Given the description of an element on the screen output the (x, y) to click on. 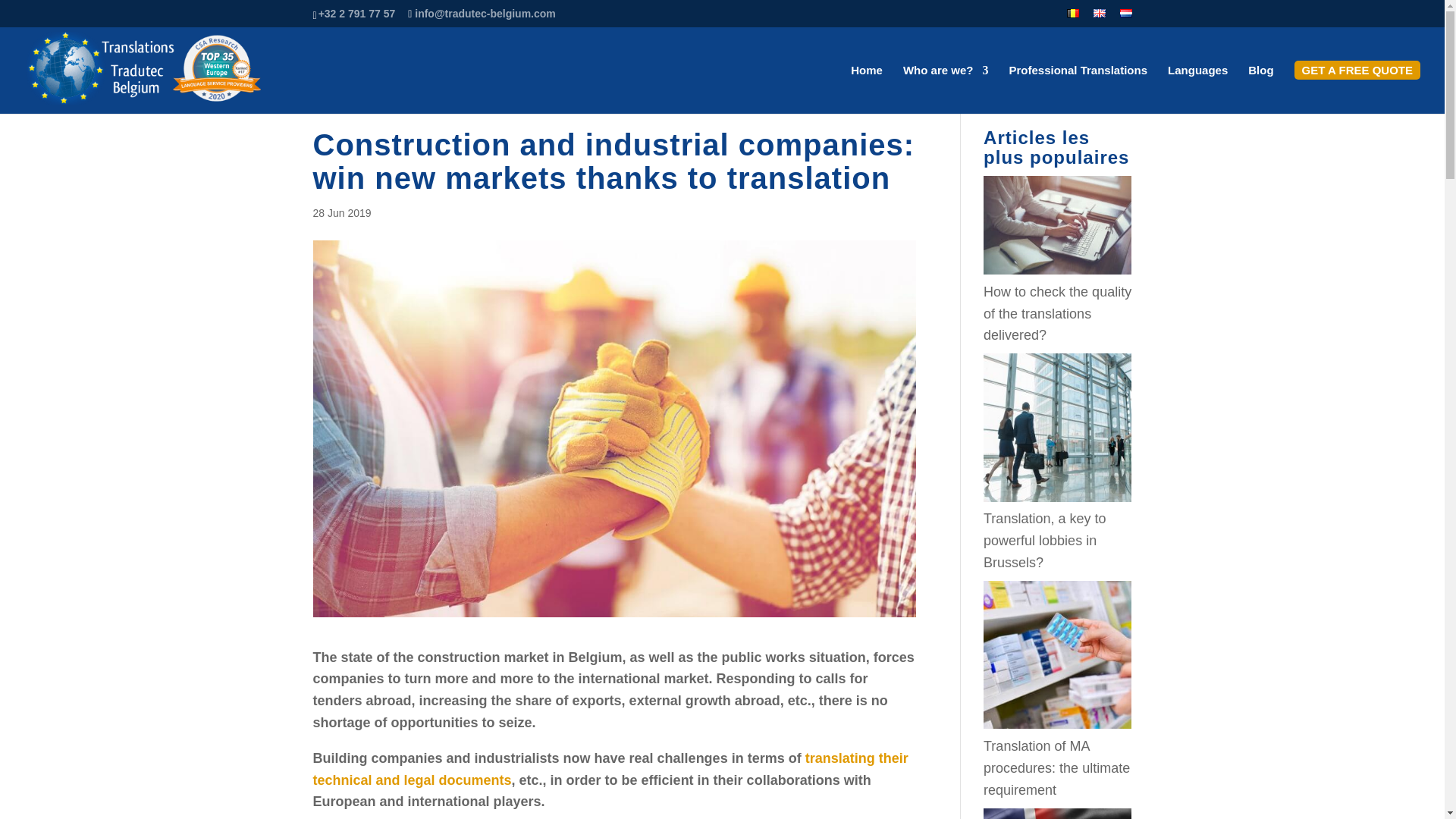
Translation of MA procedures: the ultimate requirement (1056, 767)
GET A FREE QUOTE (1356, 89)
Languages (1197, 89)
Who are we? (945, 89)
Translation, a key to powerful lobbies in Brussels? (1044, 540)
translating their technical and legal documents (610, 769)
Professional Translations (1078, 89)
How to check the quality of the translations delivered? (1057, 225)
How can Brexit be an opportunity for companies in Belgium? (1057, 813)
Translation, a key to powerful lobbies in Brussels? (1057, 426)
